Given the description of an element on the screen output the (x, y) to click on. 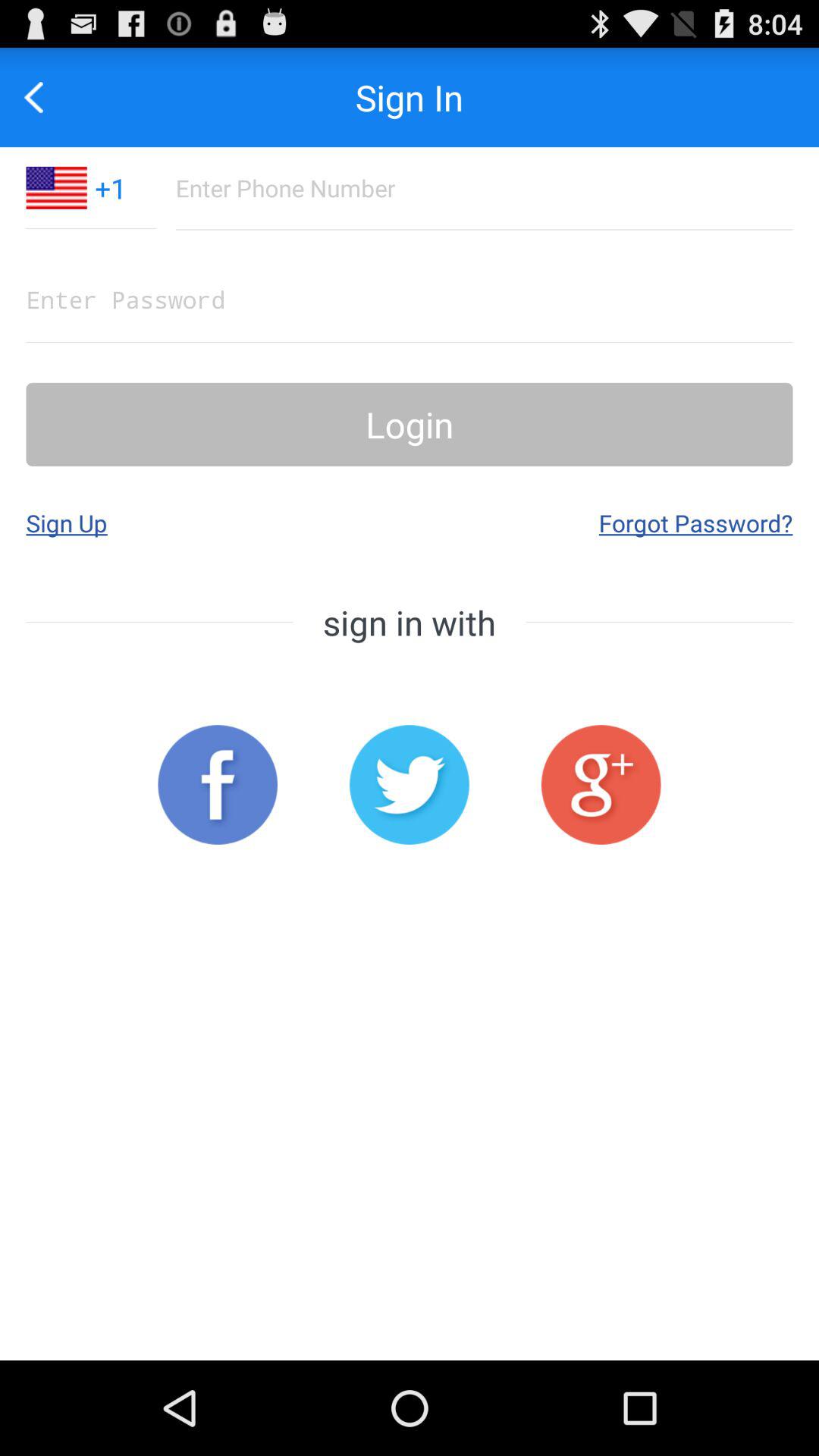
type phone number (483, 188)
